Given the description of an element on the screen output the (x, y) to click on. 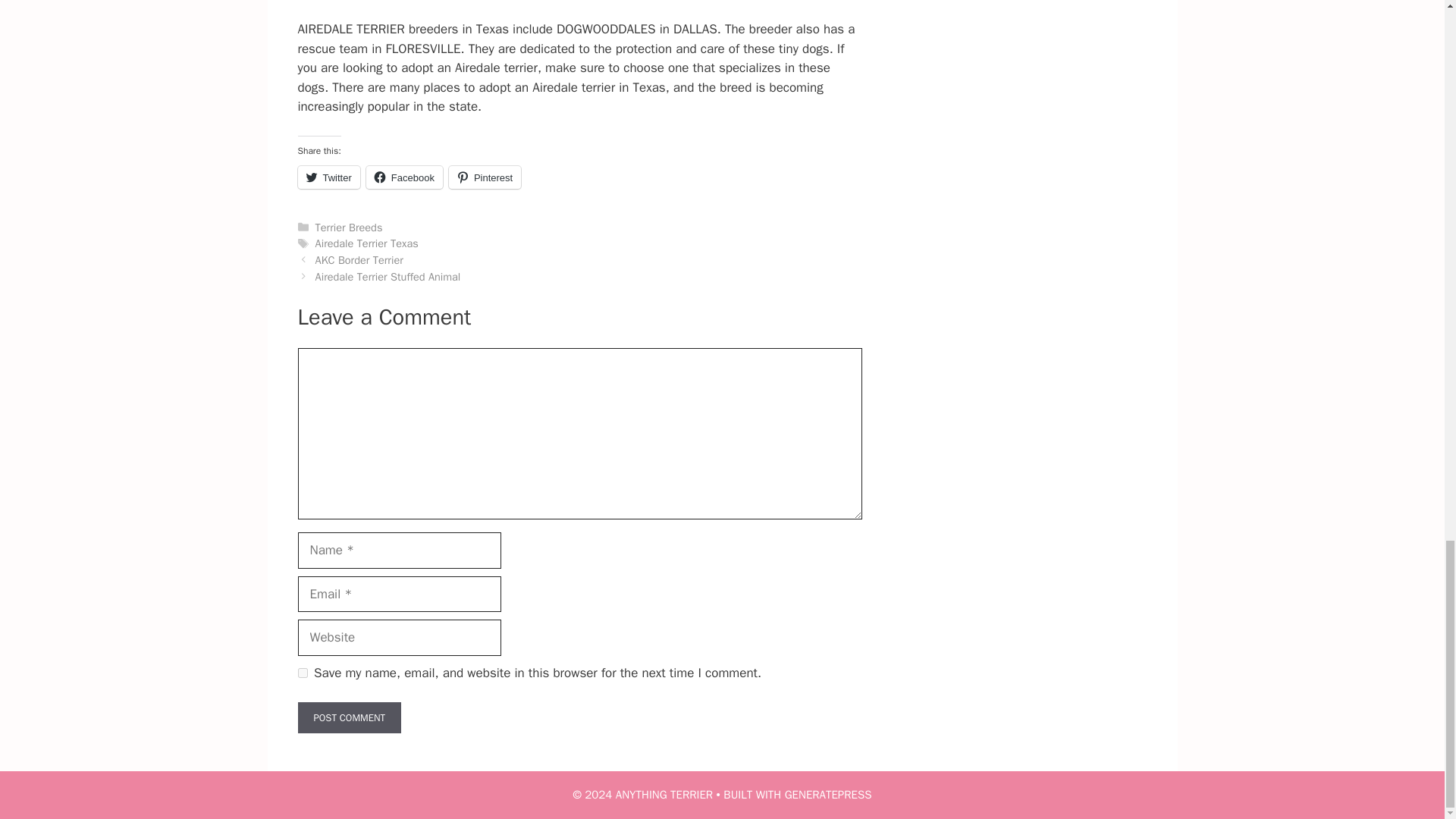
Airedale Terrier Stuffed Animal (388, 276)
AKC Border Terrier (359, 259)
Twitter (328, 177)
Post Comment (349, 717)
Airedale Terrier Texas (367, 243)
yes (302, 673)
Terrier Breeds (348, 227)
Click to share on Twitter (328, 177)
Click to share on Pinterest (484, 177)
Post Comment (349, 717)
Pinterest (484, 177)
Click to share on Facebook (404, 177)
Facebook (404, 177)
